Given the description of an element on the screen output the (x, y) to click on. 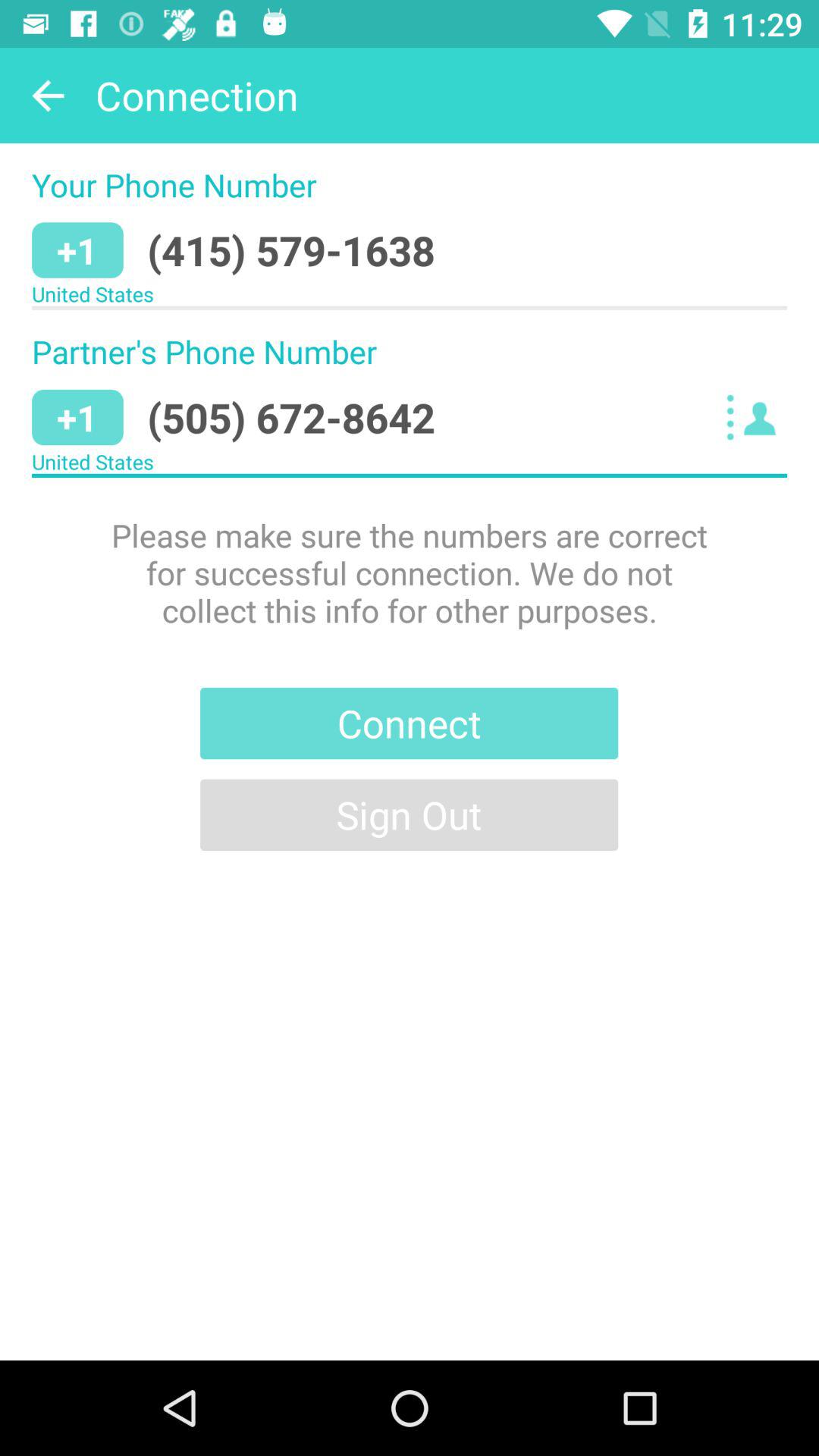
launch the item next to the +1 icon (291, 250)
